Given the description of an element on the screen output the (x, y) to click on. 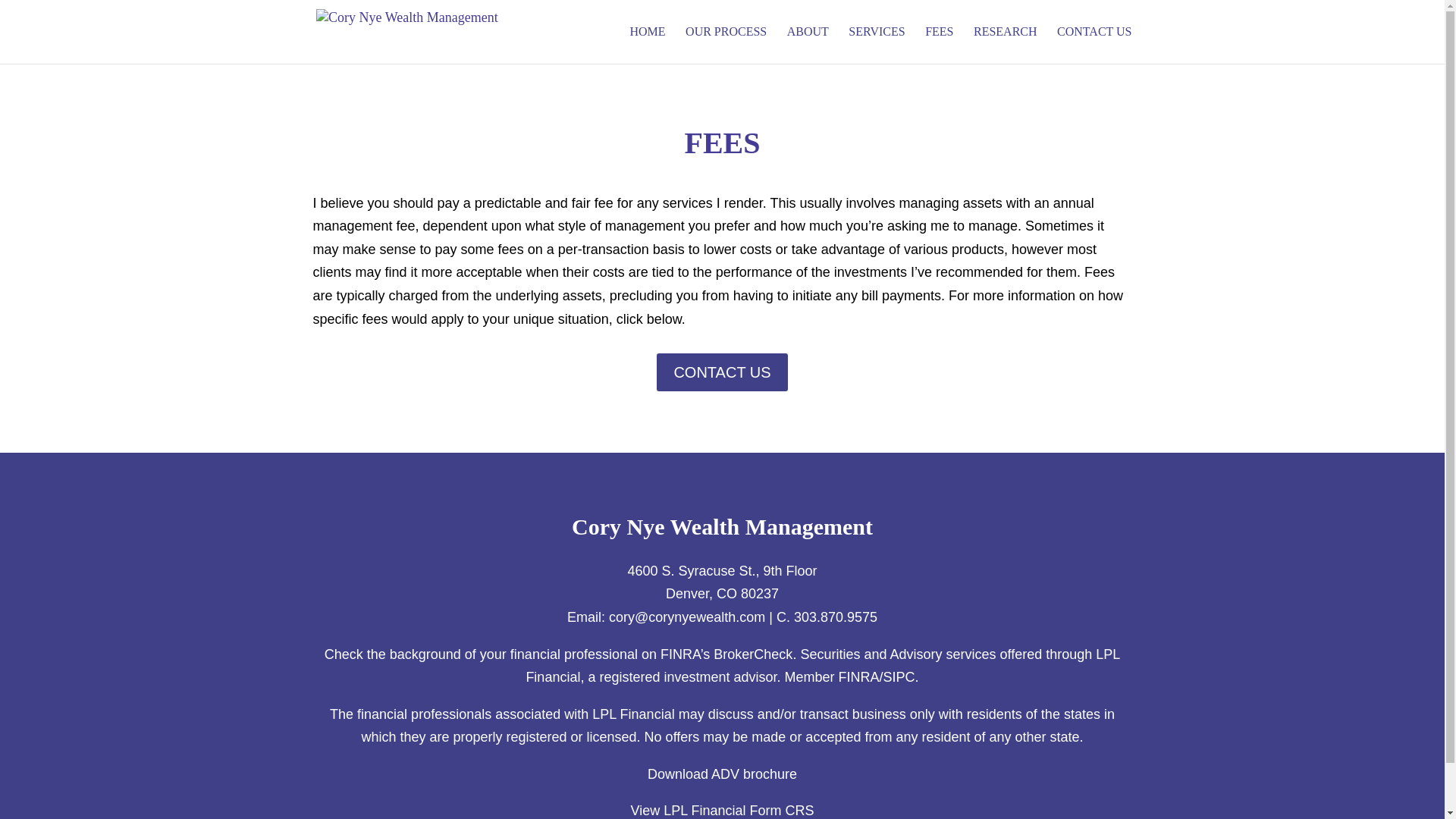
FINRA (858, 676)
RESEARCH (1005, 44)
BrokerCheck (752, 654)
View LPL Financial Form CRS (721, 810)
ABOUT (807, 44)
CONTACT US (1094, 44)
CONTACT US (721, 371)
SERVICES (876, 44)
Download ADV brochure (721, 774)
SIPC (899, 676)
FEES (938, 44)
OUR PROCESS (726, 44)
HOME (646, 44)
